Given the description of an element on the screen output the (x, y) to click on. 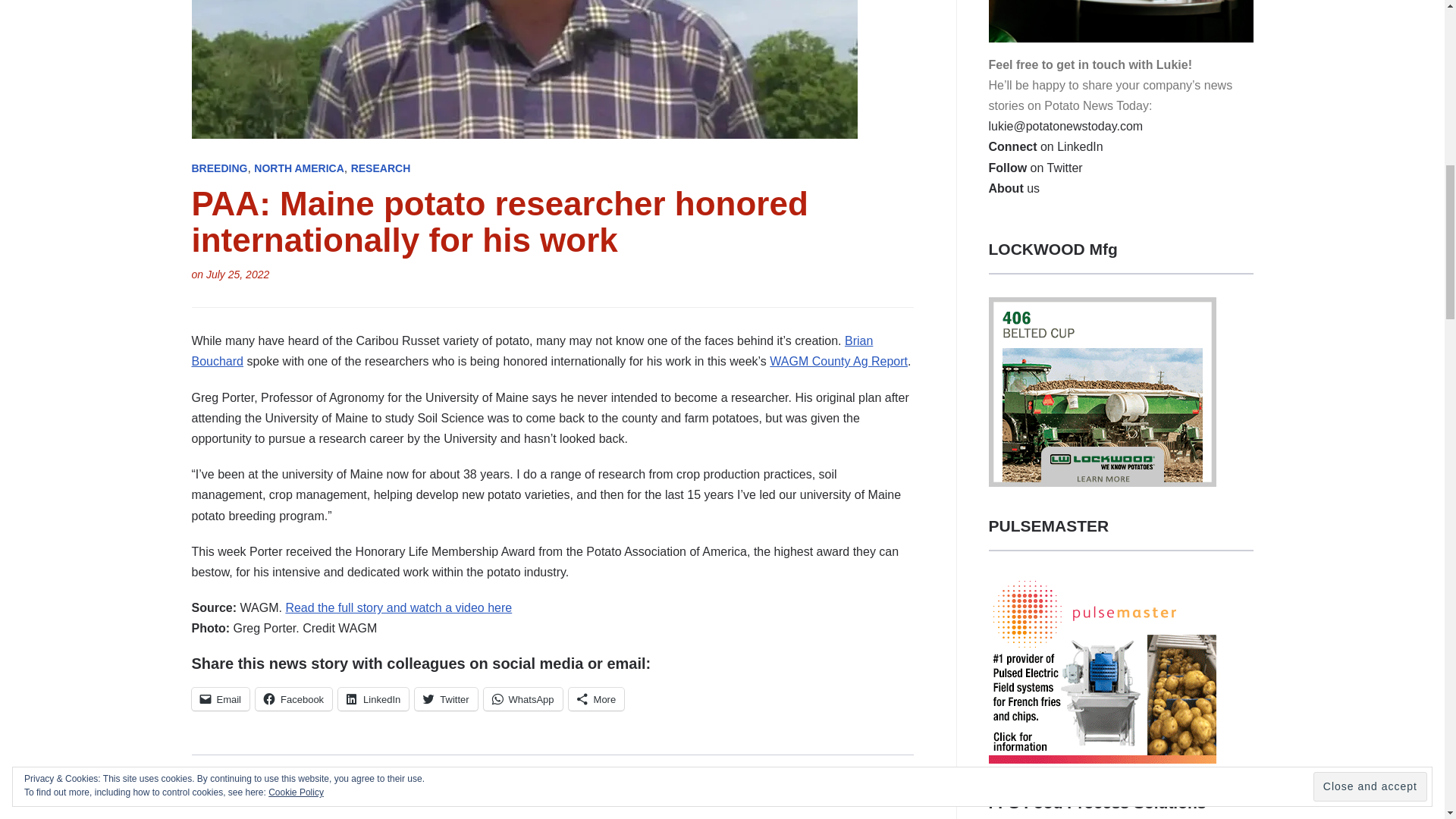
Click to share on LinkedIn (373, 698)
Click to email a link to a friend (219, 698)
Click to share on Twitter (445, 698)
Click to share on Facebook (293, 698)
